Given the description of an element on the screen output the (x, y) to click on. 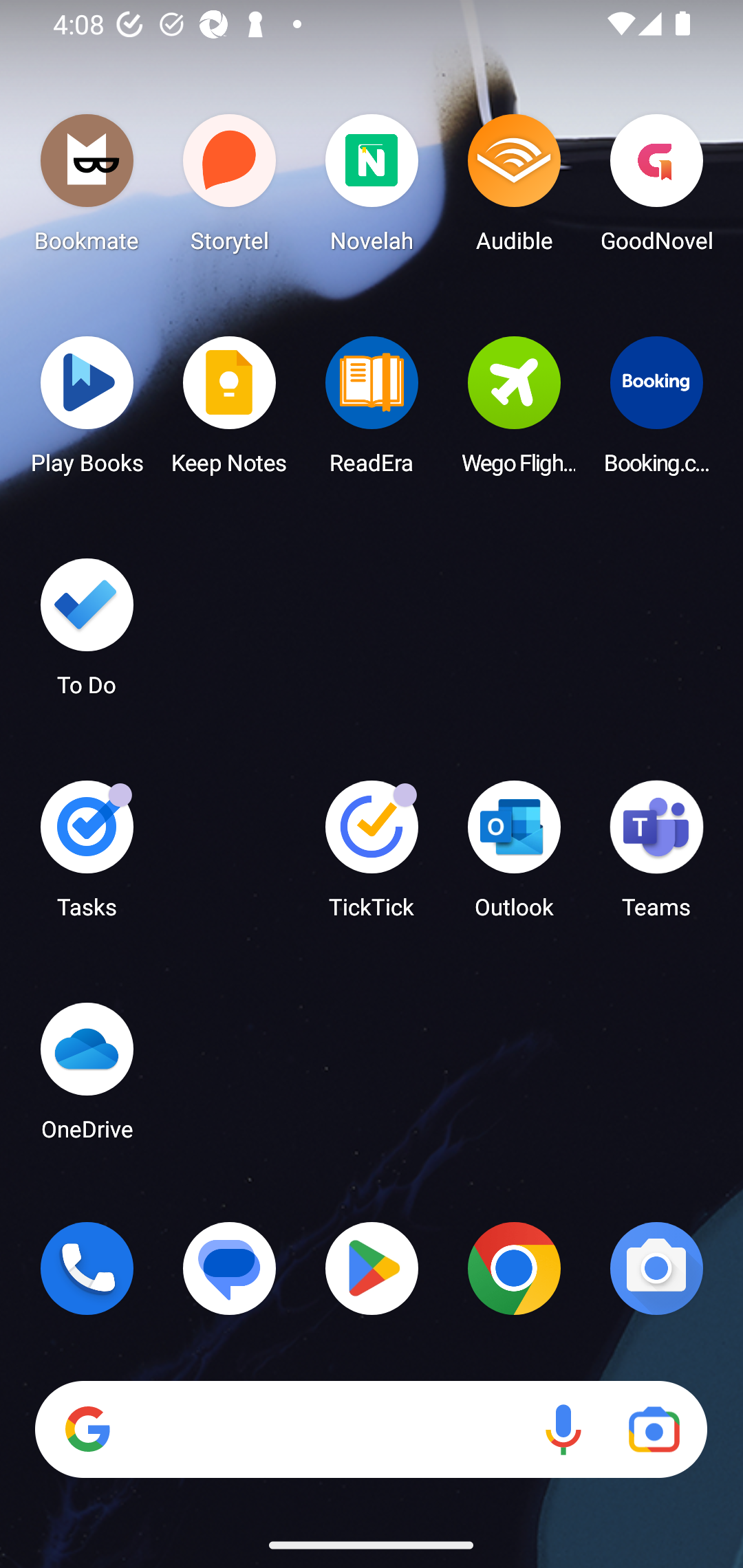
Bookmate (86, 188)
Storytel (229, 188)
Novelah (371, 188)
Audible (513, 188)
GoodNovel (656, 188)
Play Books (86, 410)
Keep Notes (229, 410)
ReadEra (371, 410)
Wego Flights & Hotels (513, 410)
Booking.com (656, 410)
To Do (86, 633)
Tasks Tasks has 1 notification (86, 854)
TickTick TickTick has 3 notifications (371, 854)
Outlook (513, 854)
Teams (656, 854)
OneDrive (86, 1076)
Phone (86, 1268)
Messages (229, 1268)
Play Store (371, 1268)
Chrome (513, 1268)
Camera (656, 1268)
Voice search (562, 1429)
Google Lens (653, 1429)
